Given the description of an element on the screen output the (x, y) to click on. 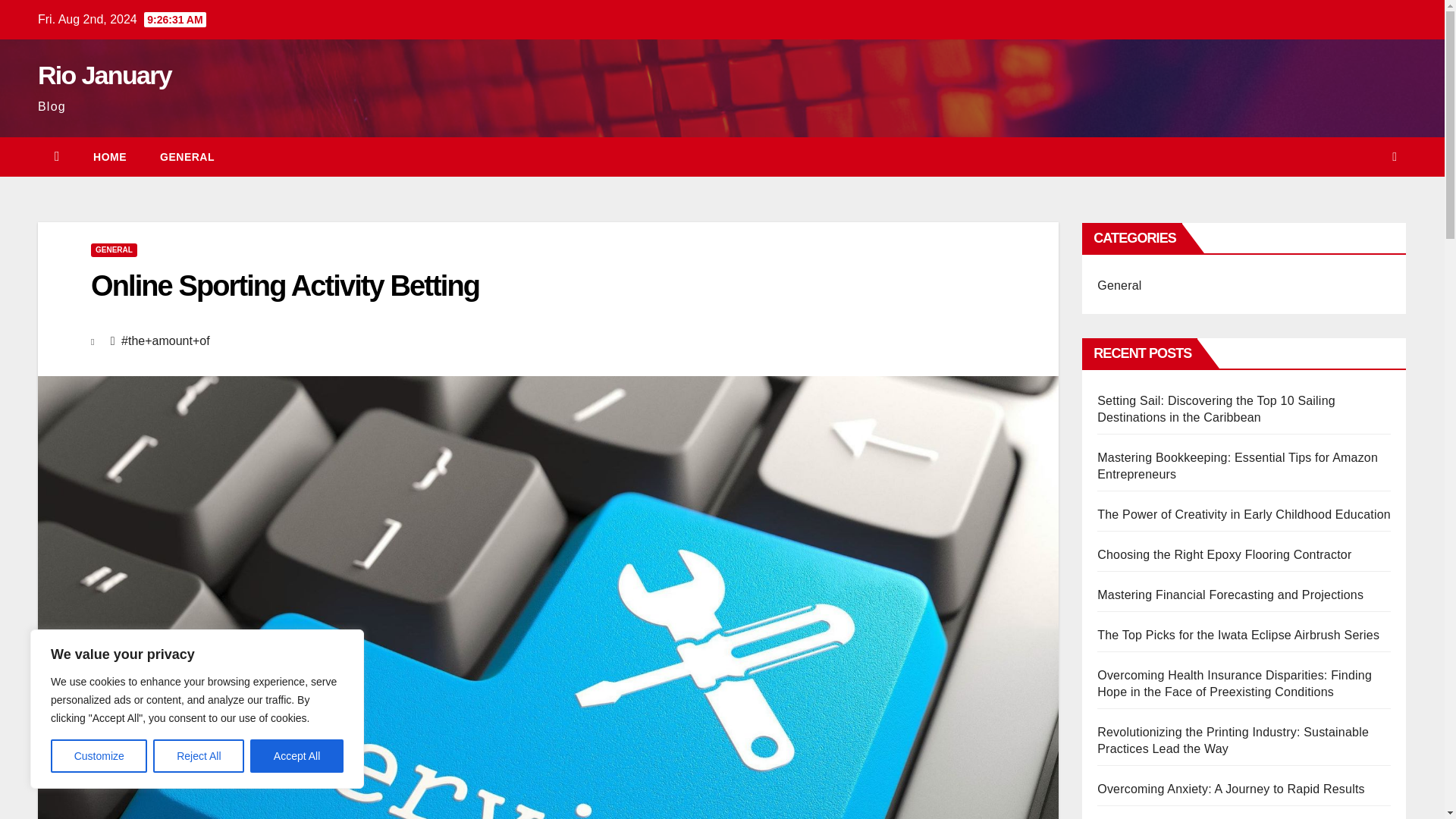
HOME (109, 156)
General (186, 156)
Home (109, 156)
Customize (98, 756)
Online Sporting Activity Betting (284, 286)
General (1119, 285)
Accept All (296, 756)
Rio January (104, 74)
Reject All (198, 756)
Permalink to: Online Sporting Activity Betting (284, 286)
GENERAL (186, 156)
GENERAL (113, 250)
